Given the description of an element on the screen output the (x, y) to click on. 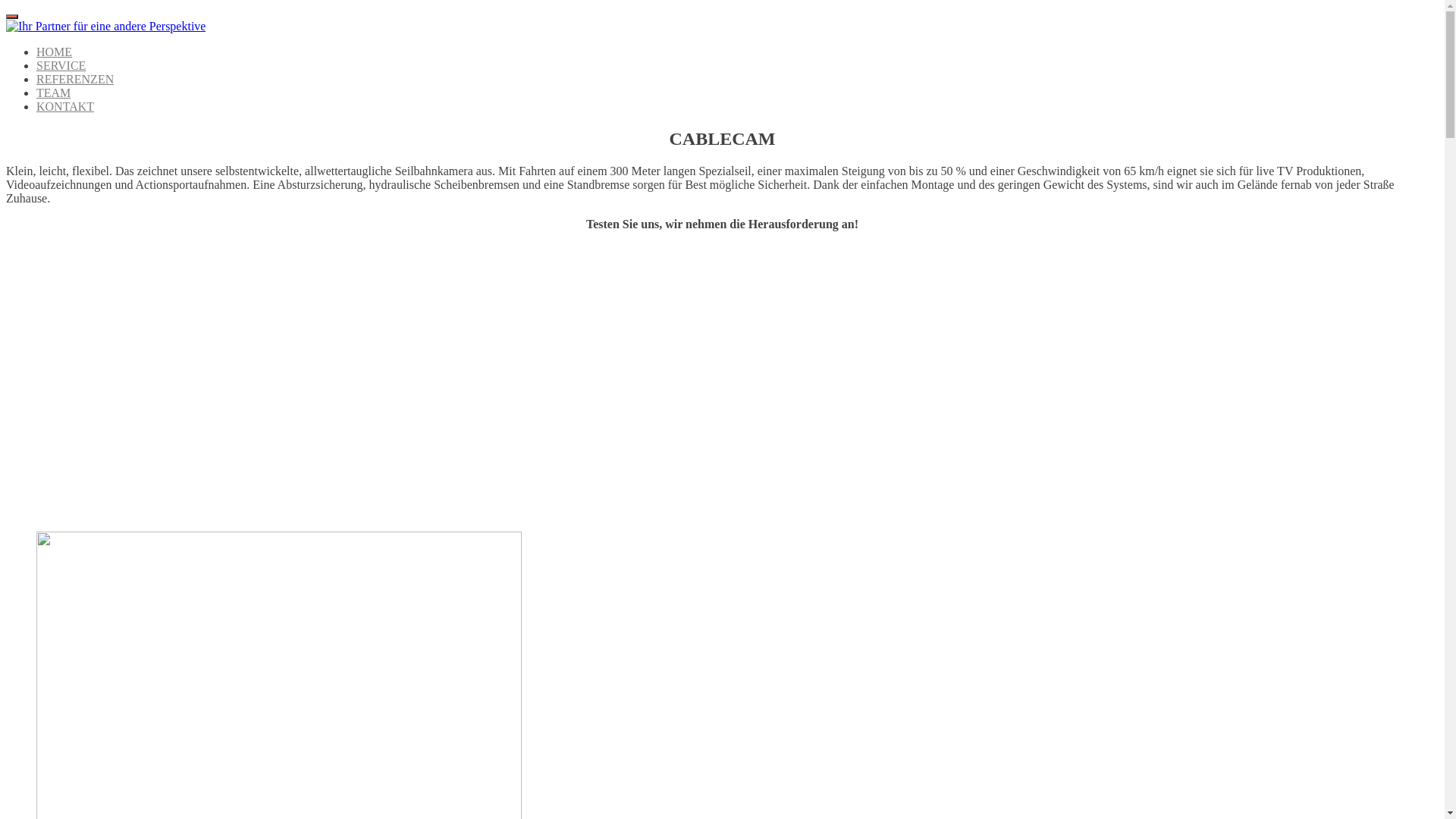
HOME Element type: text (54, 51)
REFERENZEN Element type: text (74, 78)
Menu Element type: text (12, 16)
SERVICE Element type: text (60, 65)
KONTAKT Element type: text (65, 106)
TEAM Element type: text (53, 92)
